Given the description of an element on the screen output the (x, y) to click on. 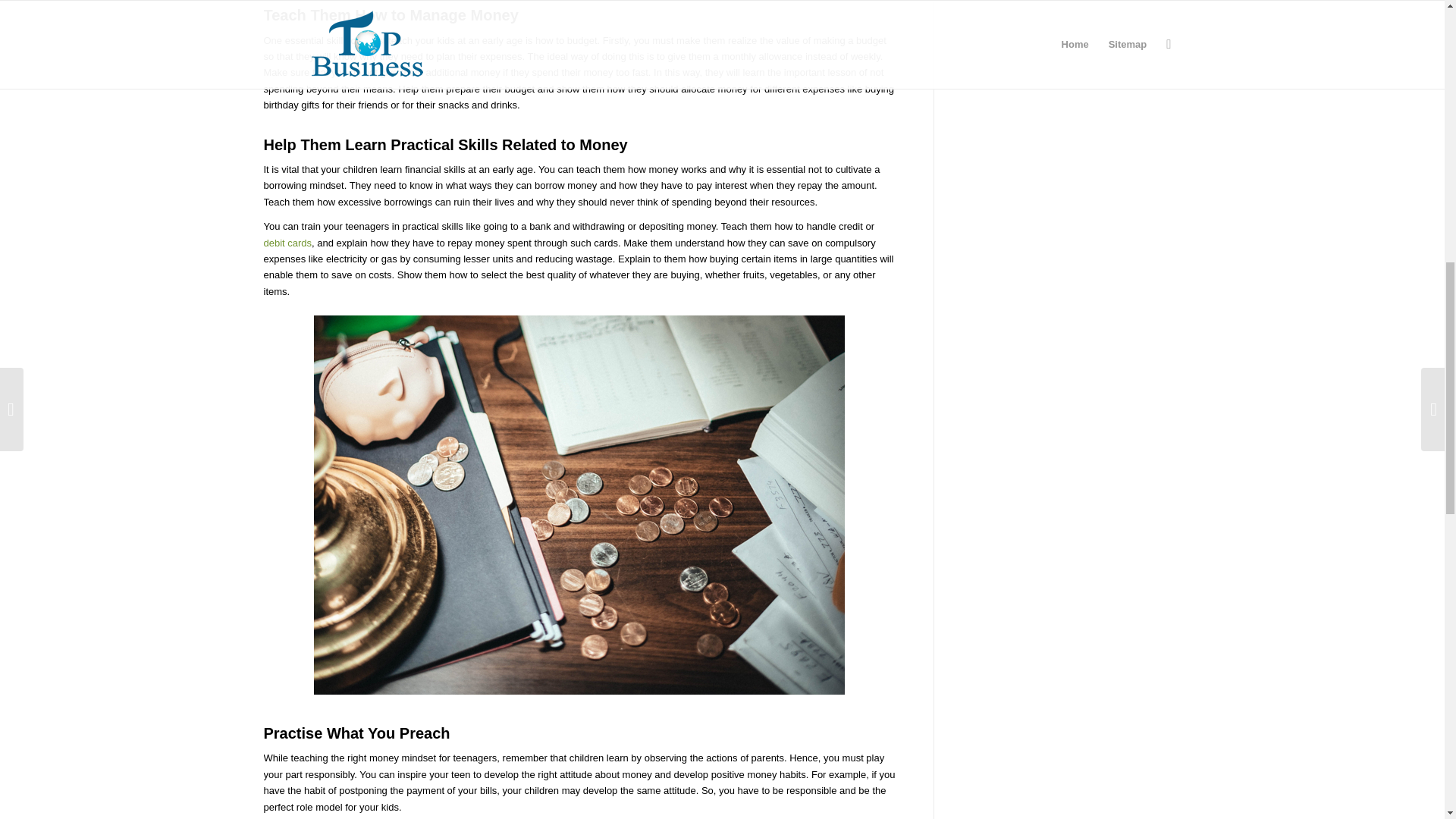
Debit cards (288, 242)
debit cards (288, 242)
